Given the description of an element on the screen output the (x, y) to click on. 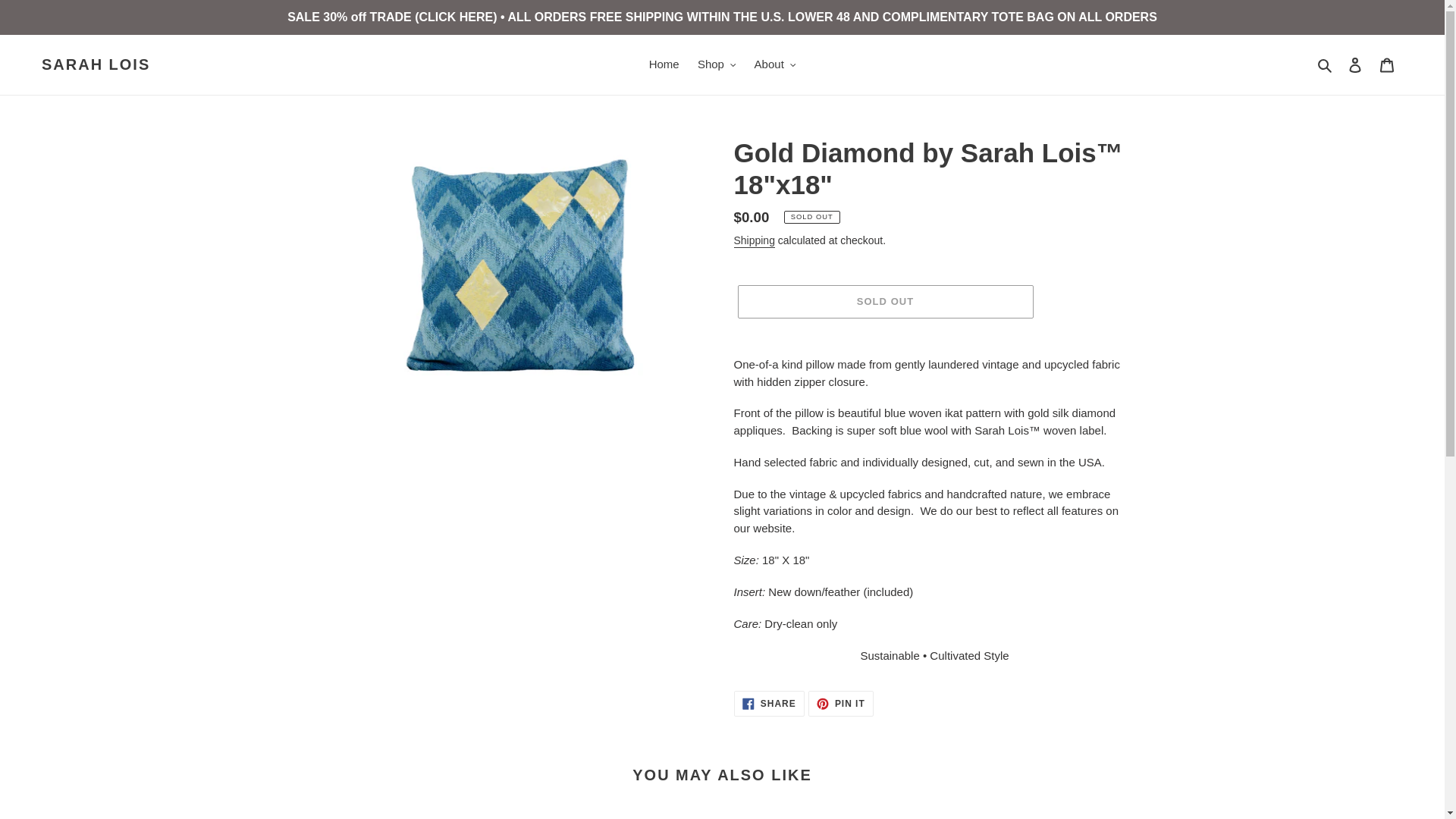
Shipping (753, 241)
About (769, 703)
Cart (774, 65)
SARAH LOIS (1387, 64)
Home (95, 64)
Shop (664, 65)
Search (840, 703)
SOLD OUT (717, 65)
